Given the description of an element on the screen output the (x, y) to click on. 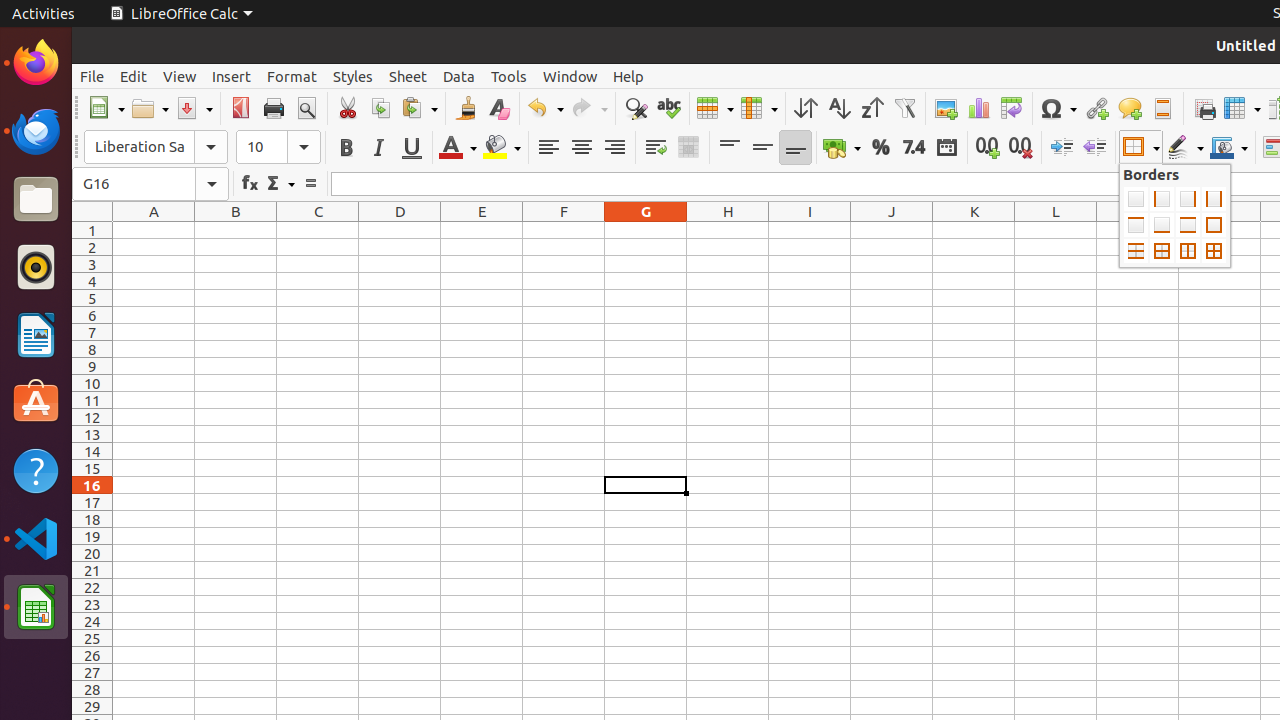
Files Element type: push-button (36, 199)
Insert Element type: menu (231, 76)
Chart Element type: push-button (978, 108)
Underline Element type: push-button (411, 147)
C1 Element type: table-cell (318, 230)
